Given the description of an element on the screen output the (x, y) to click on. 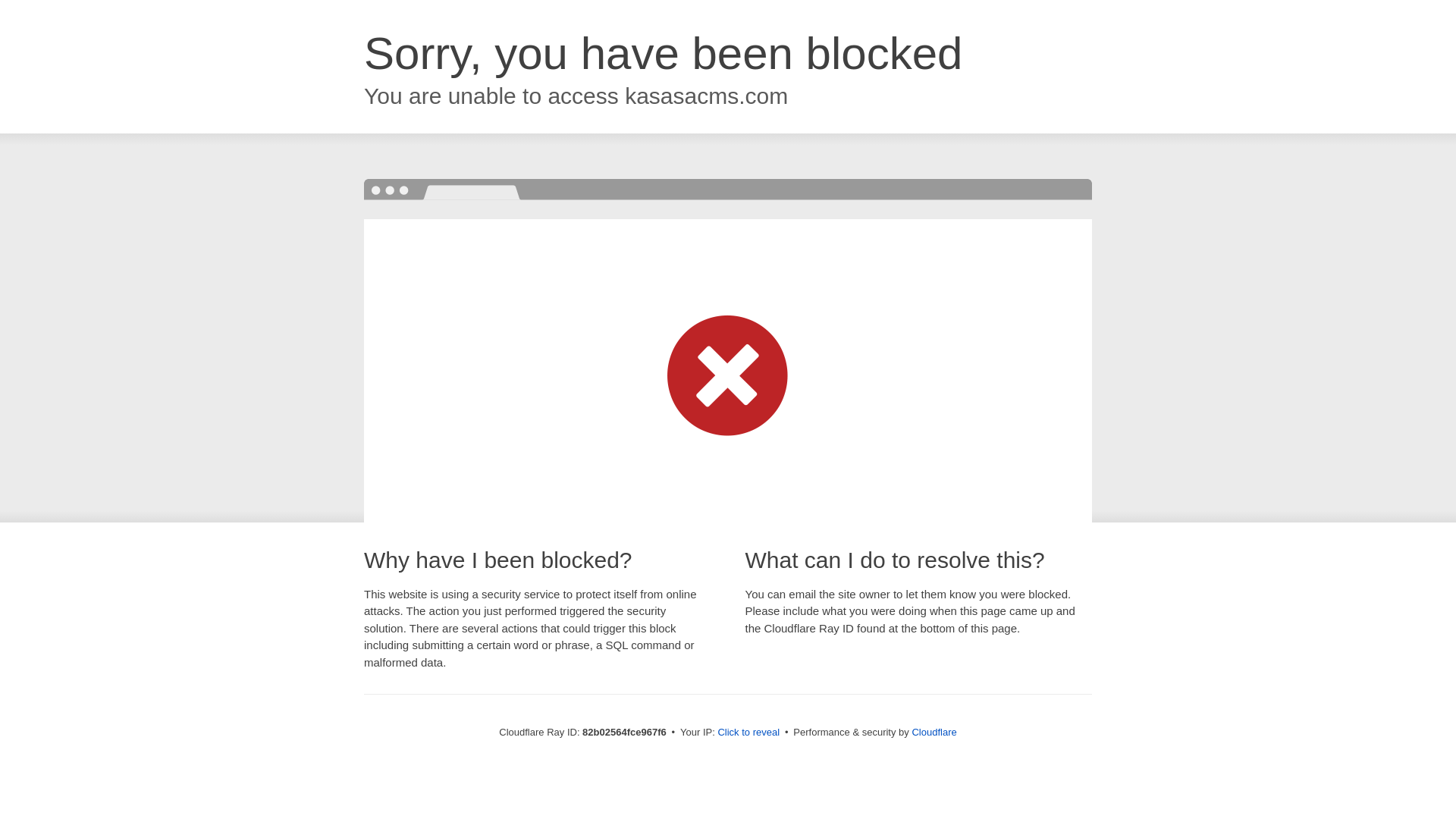
Click to reveal Element type: text (748, 732)
Cloudflare Element type: text (933, 731)
